Given the description of an element on the screen output the (x, y) to click on. 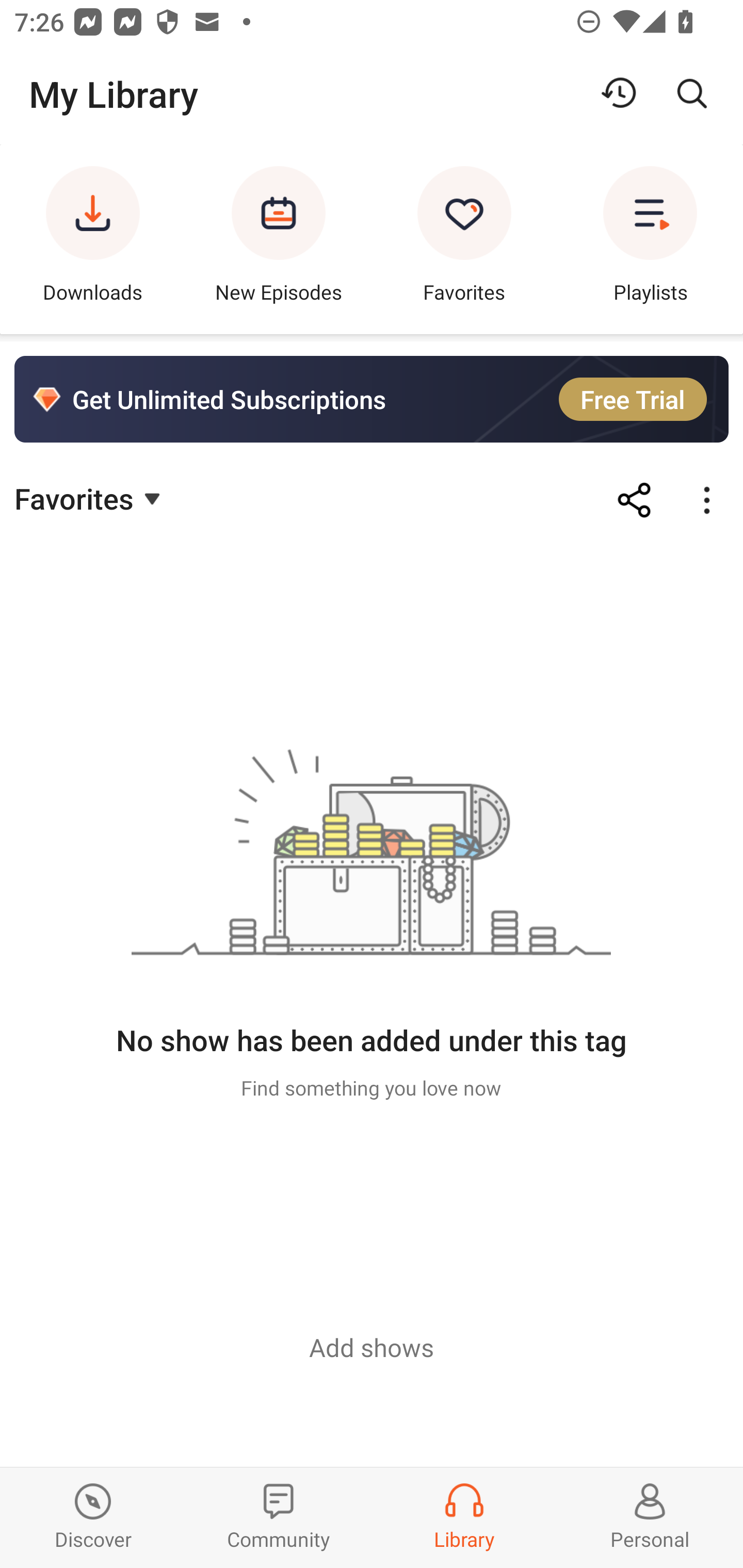
Downloads (92, 238)
New Episodes (278, 238)
Favorites (464, 238)
Playlists (650, 238)
Get Unlimited Subscriptions Free Trial (371, 398)
Free Trial (632, 398)
Favorites (90, 497)
Add shows (371, 1346)
Discover (92, 1517)
Community (278, 1517)
Library (464, 1517)
Profiles and Settings Personal (650, 1517)
